Given the description of an element on the screen output the (x, y) to click on. 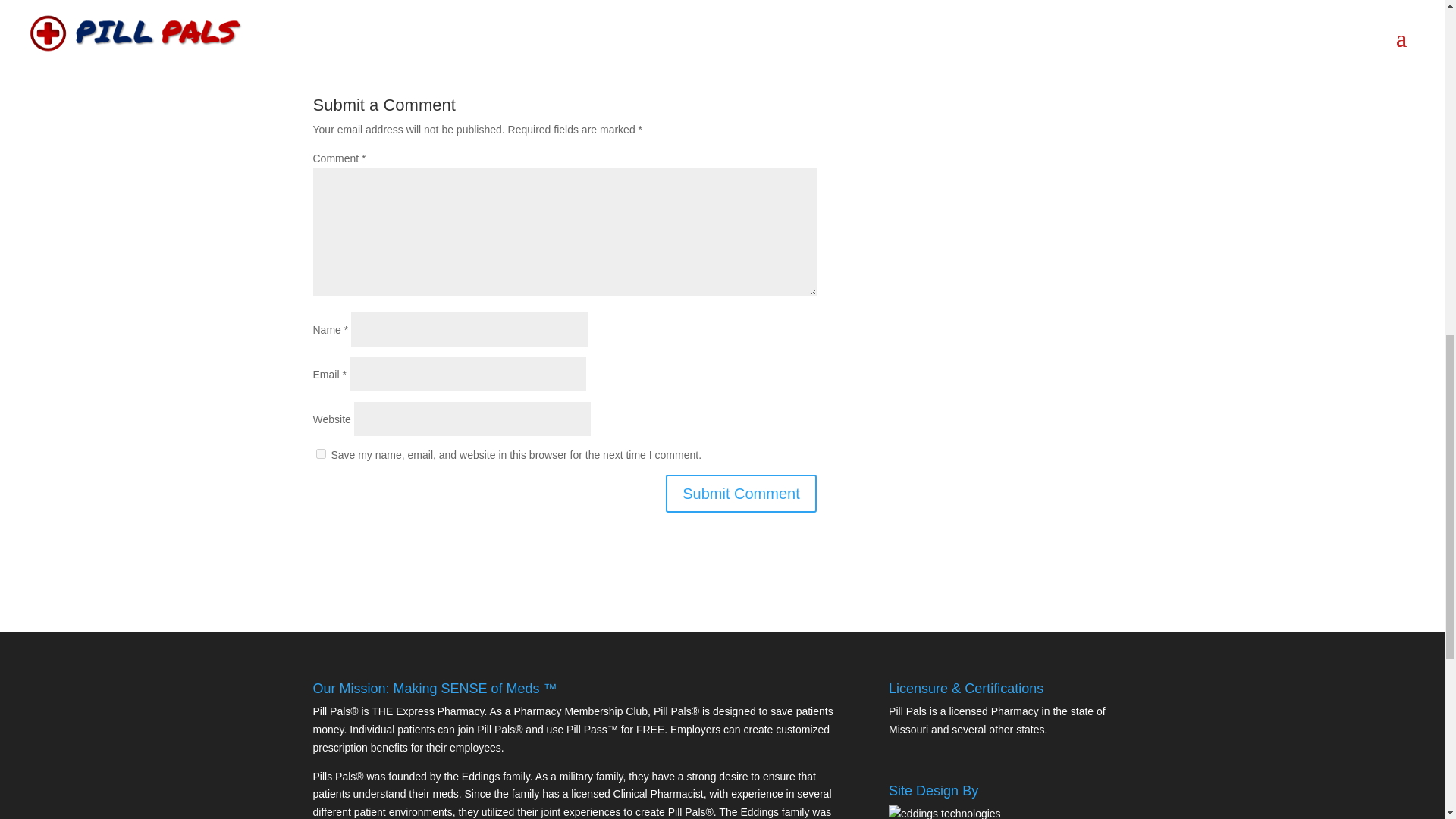
Submit Comment (740, 493)
Submit Comment (740, 493)
yes (319, 453)
